Given the description of an element on the screen output the (x, y) to click on. 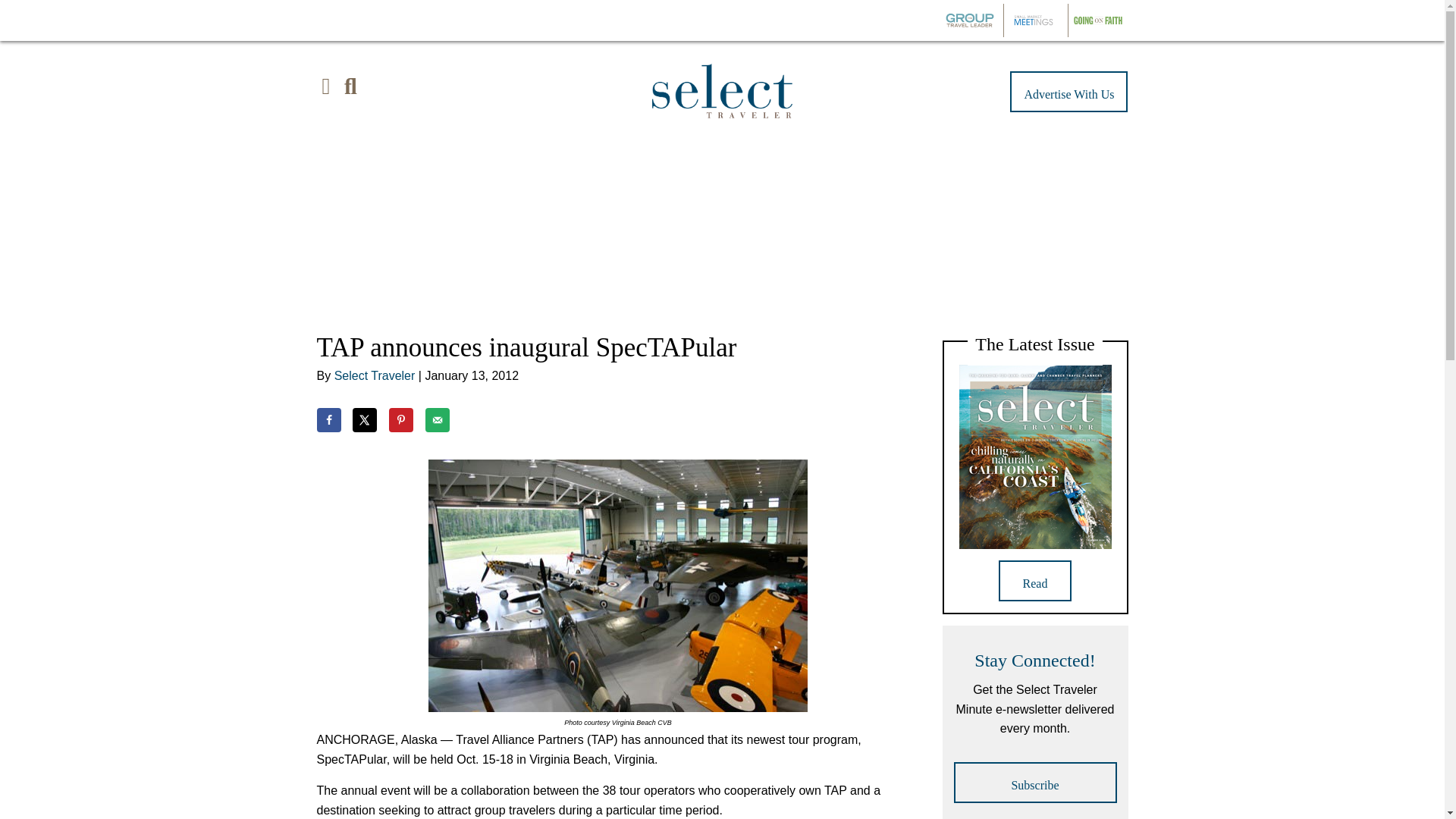
Advertise With Us (1068, 91)
Share on Facebook (328, 419)
Share on X (364, 419)
See All Posts by Select Traveler (374, 375)
Send over email (437, 419)
Save to Pinterest (400, 419)
Select Traveler (374, 375)
